Given the description of an element on the screen output the (x, y) to click on. 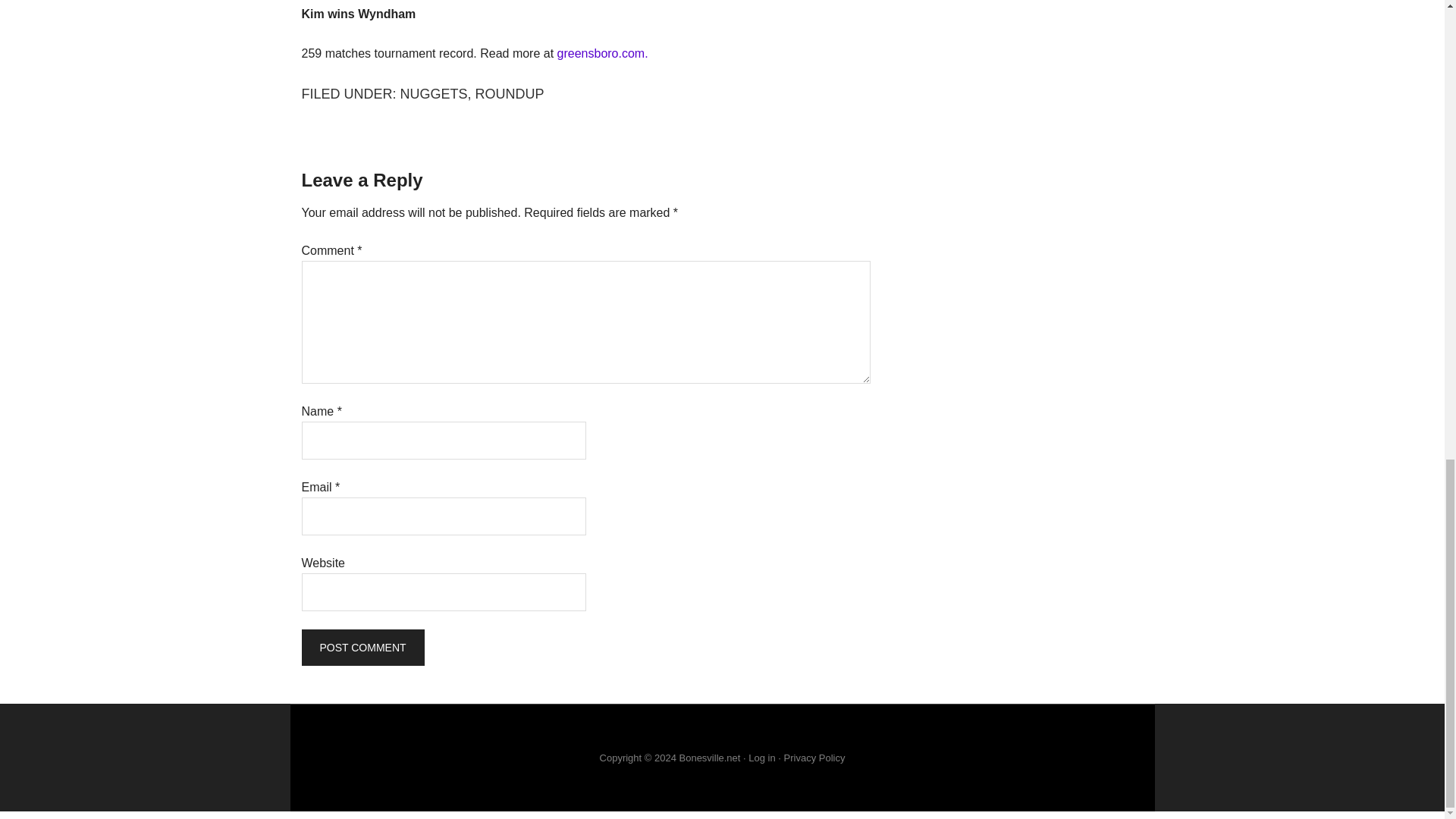
Privacy Policy (814, 757)
NUGGETS (433, 93)
Post Comment (363, 647)
greensboro.com. (602, 52)
Post Comment (363, 647)
Log in (761, 757)
ROUNDUP (510, 93)
